Given the description of an element on the screen output the (x, y) to click on. 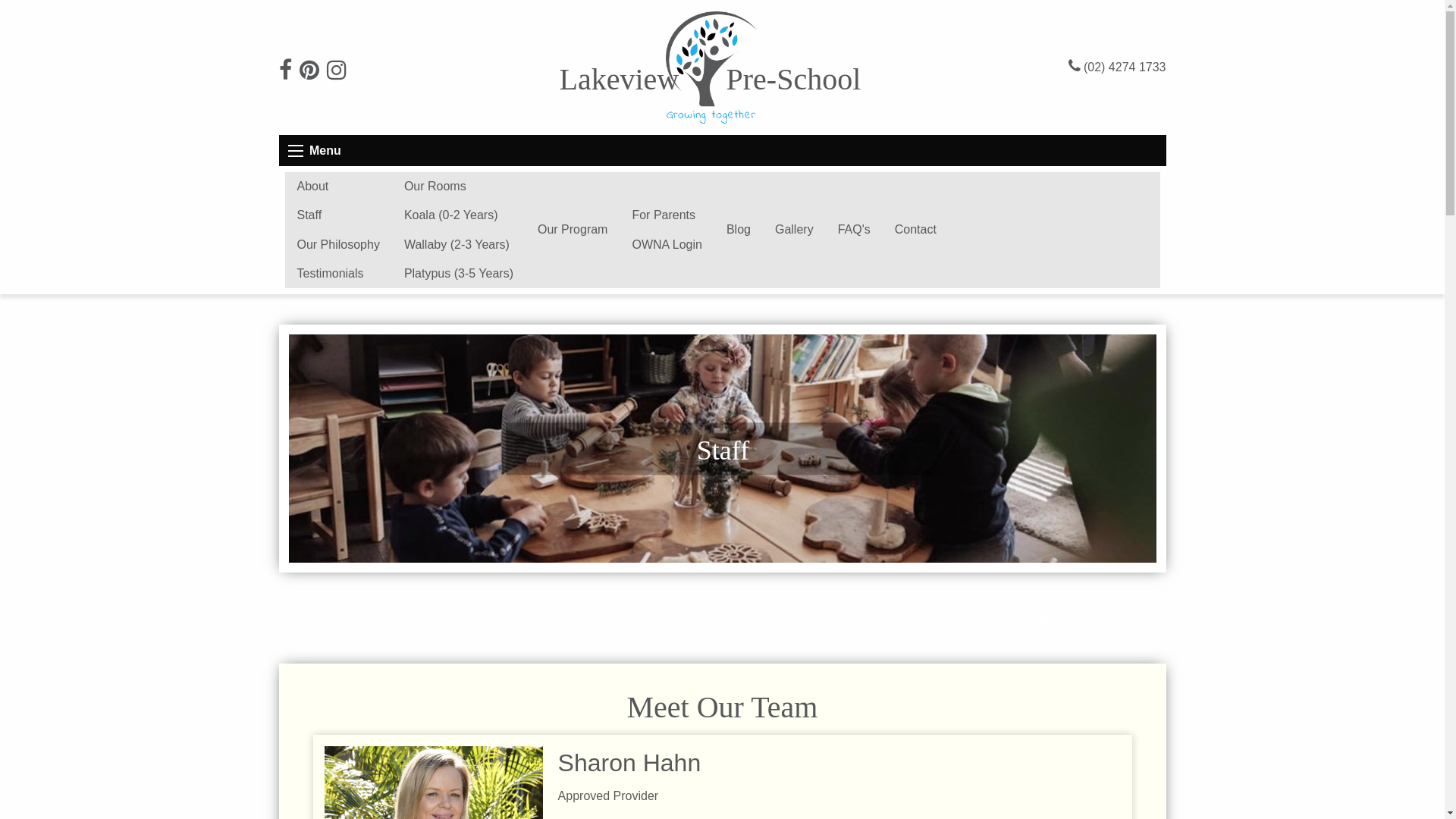
About Element type: text (338, 186)
Koala (0-2 Years) Element type: text (458, 214)
Gallery Element type: text (793, 229)
Blog Element type: text (738, 229)
Testimonials Element type: text (338, 273)
Testimonials Element type: text (1017, 617)
Our Program Element type: text (572, 229)
Our Philosophy Element type: text (721, 617)
FAQ's Element type: text (853, 229)
OWNA Login Element type: text (666, 243)
(02) 4274 1733 Element type: text (1124, 66)
Instagram Element type: hover (335, 73)
For Parents Element type: text (666, 214)
Platypus (3-5 Years) Element type: text (458, 273)
Staff Element type: text (338, 214)
Our Rooms Element type: text (458, 186)
Staff Element type: text (426, 617)
Wallaby (2-3 Years) Element type: text (458, 243)
Our Philosophy Element type: text (338, 243)
Contact Element type: text (915, 229)
